Given the description of an element on the screen output the (x, y) to click on. 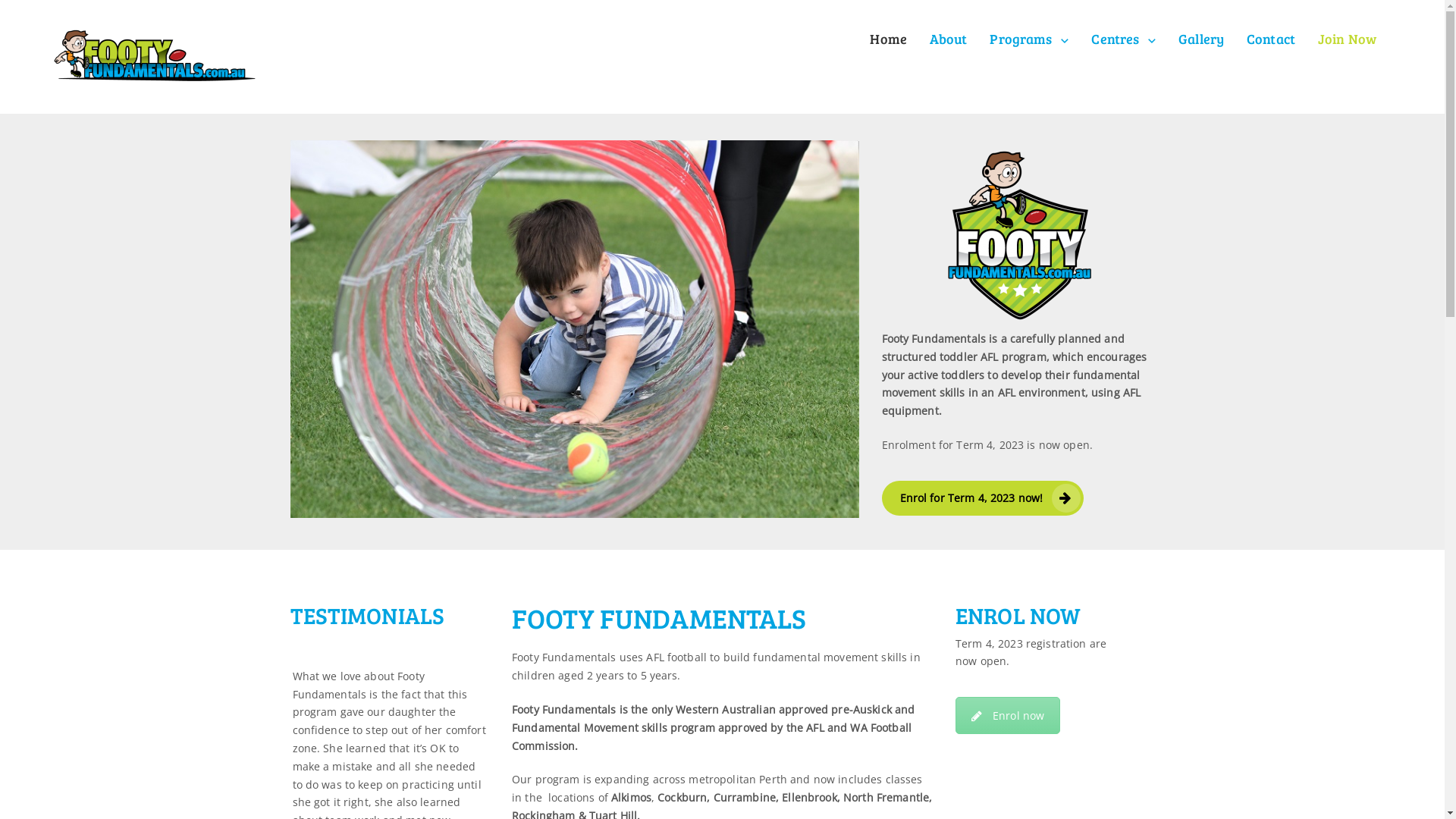
Footy Fundamentals Element type: hover (155, 55)
Enrol for Term 4, 2023 now! Element type: text (982, 497)
Gallery Element type: text (1201, 38)
Footy fundamentals_badge Element type: hover (1018, 234)
Contact Element type: text (1270, 38)
Centres Element type: text (1123, 38)
Join Now Element type: text (1346, 38)
Enrol now Element type: text (1007, 715)
Programs Element type: text (1029, 38)
About Element type: text (948, 38)
Home Element type: text (887, 38)
